Given the description of an element on the screen output the (x, y) to click on. 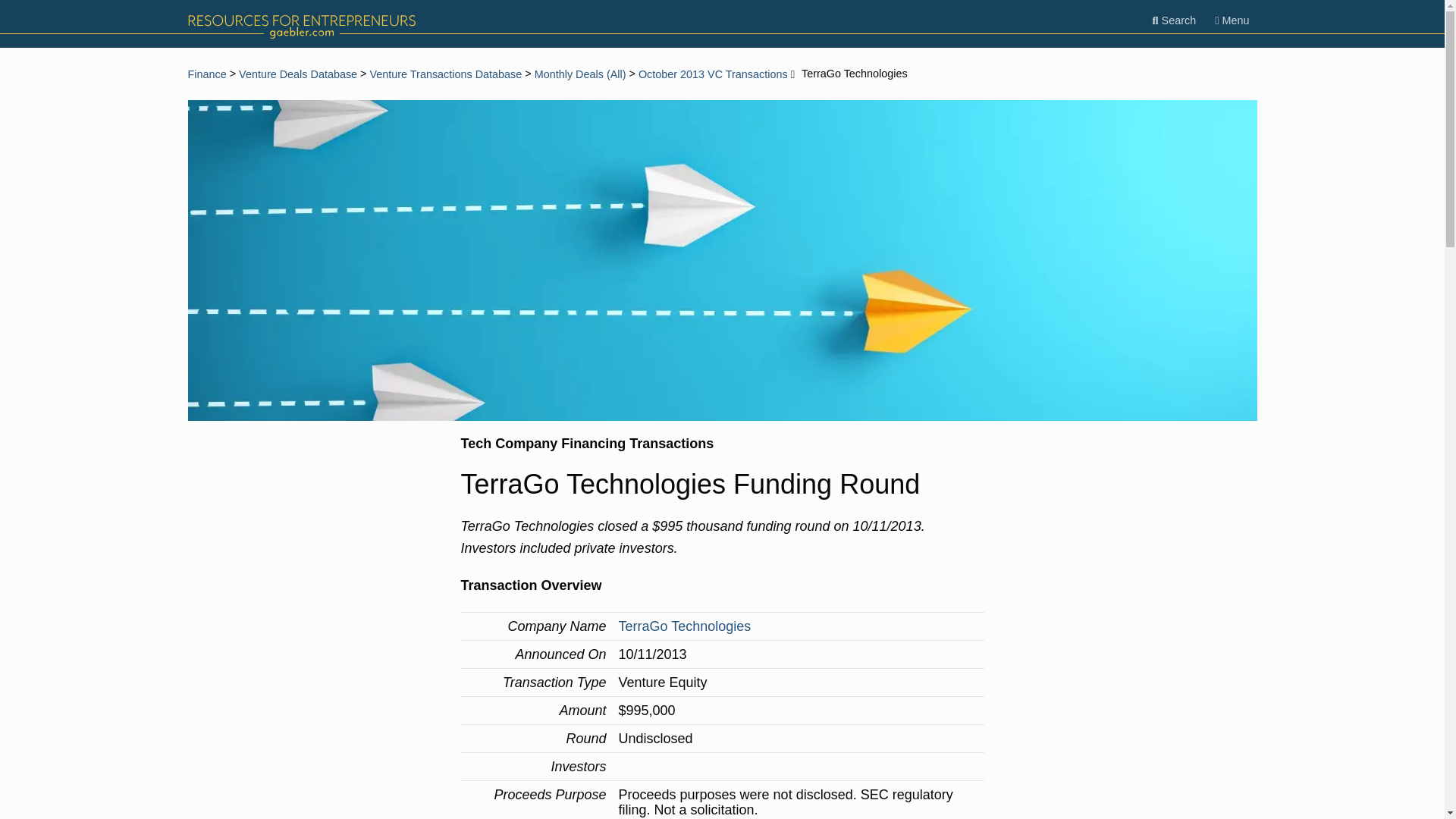
Search (1174, 20)
Menu (1231, 20)
